Given the description of an element on the screen output the (x, y) to click on. 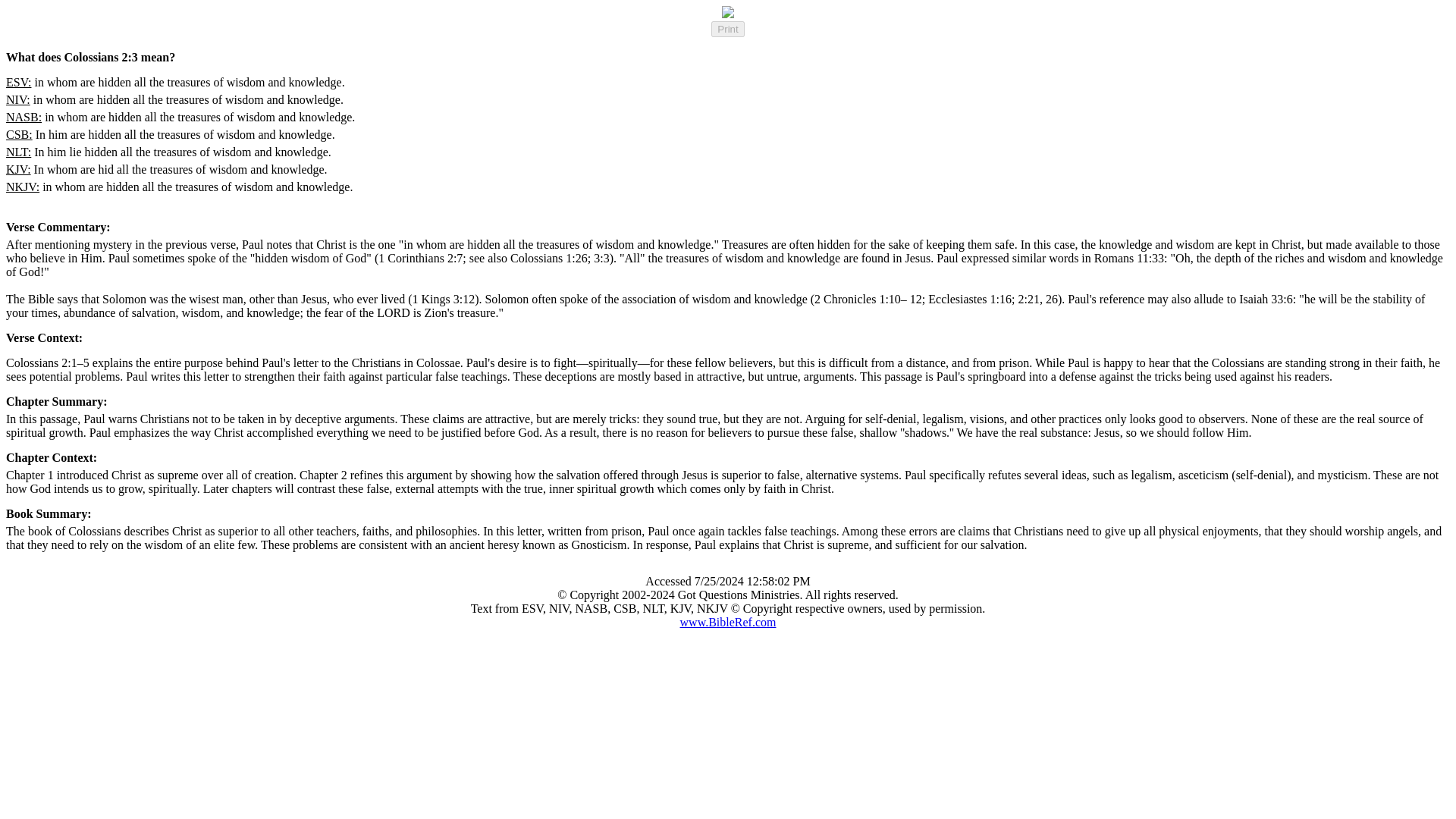
Print (727, 28)
